Given the description of an element on the screen output the (x, y) to click on. 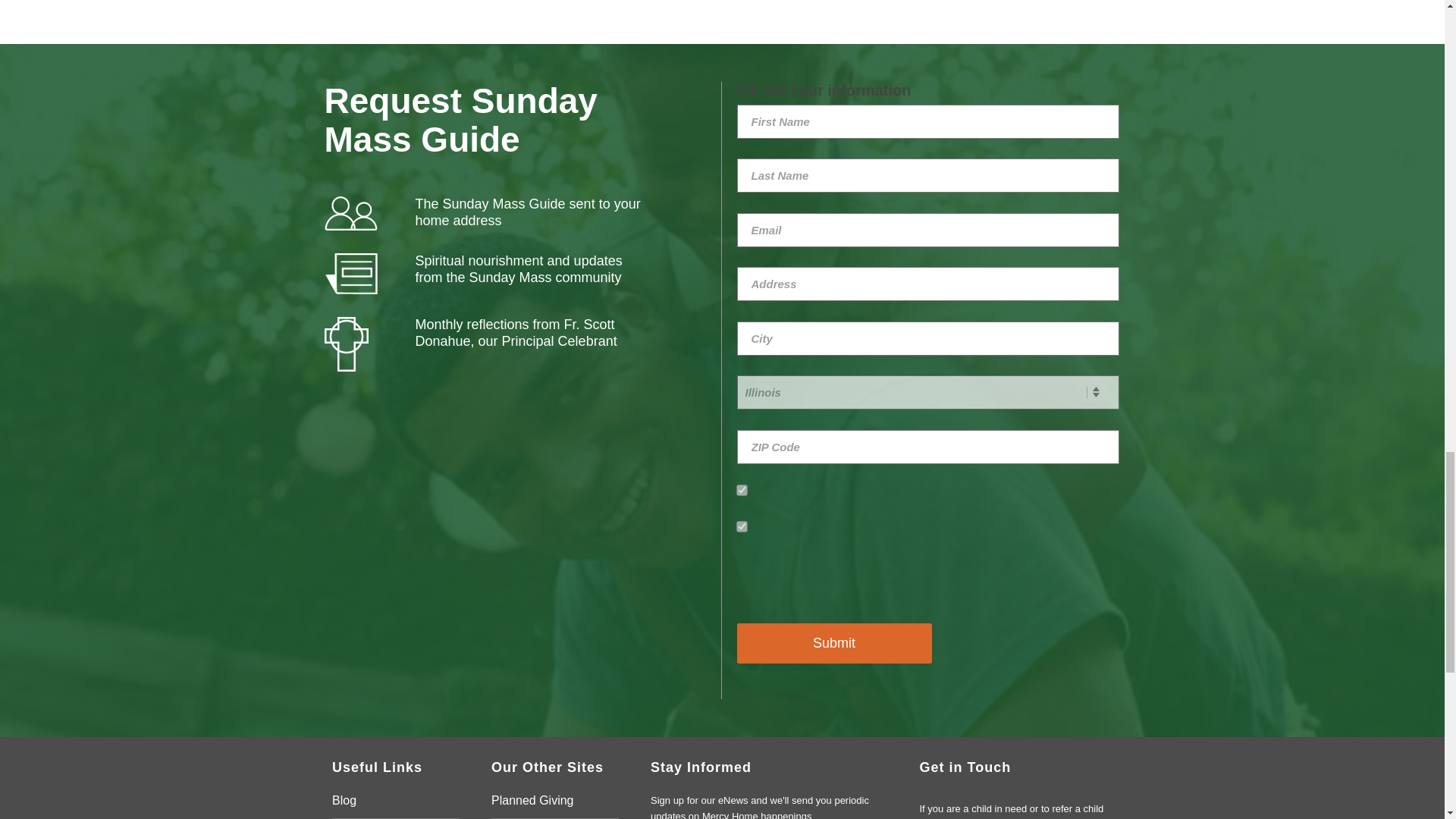
Read our latest blog posts (395, 805)
1 (740, 525)
Submit (833, 643)
1 (740, 489)
